Given the description of an element on the screen output the (x, y) to click on. 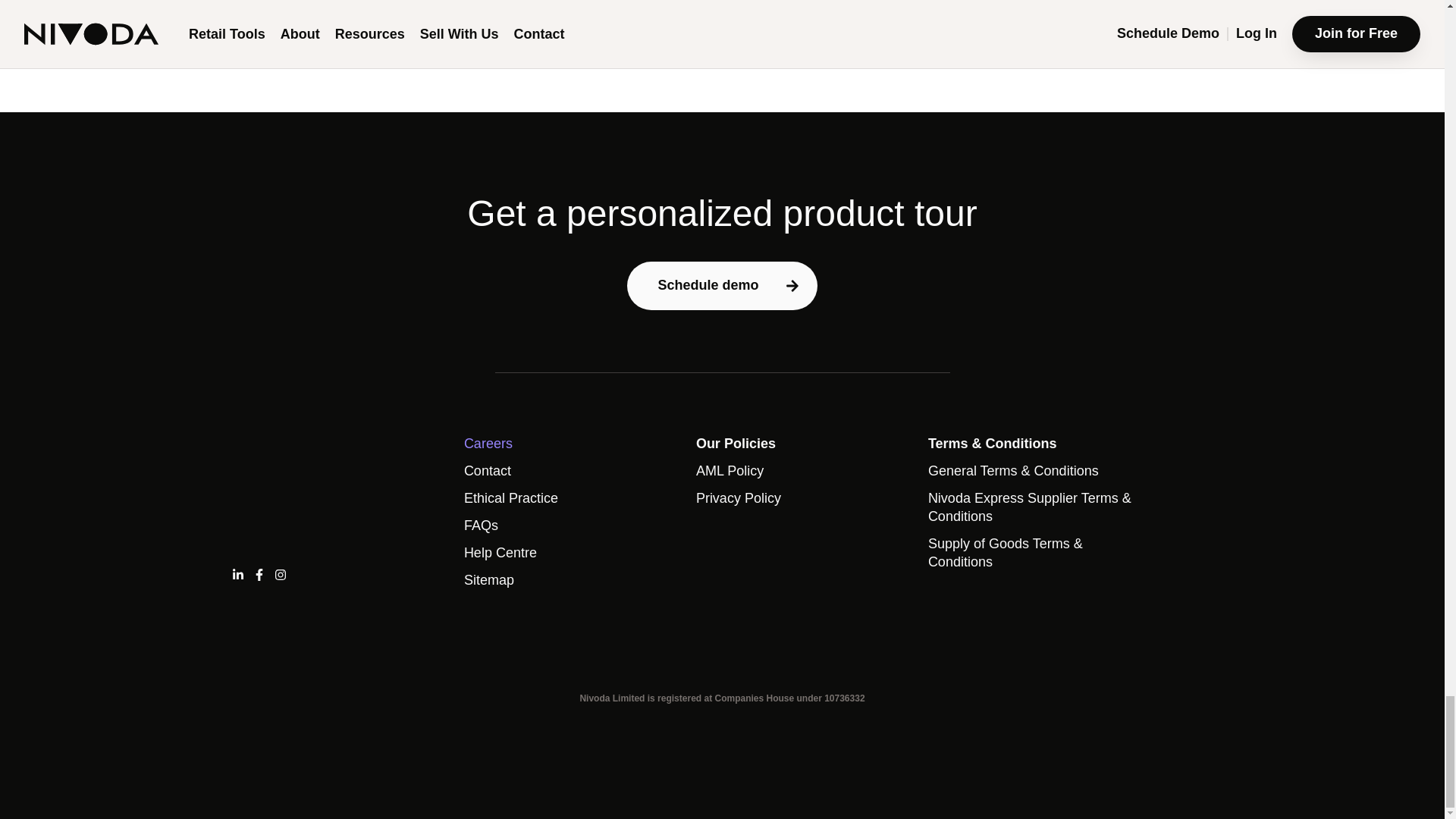
Schedule demo (721, 285)
Contact (571, 471)
FAQs (571, 525)
Careers (571, 443)
Ethical Practice (571, 498)
